Given the description of an element on the screen output the (x, y) to click on. 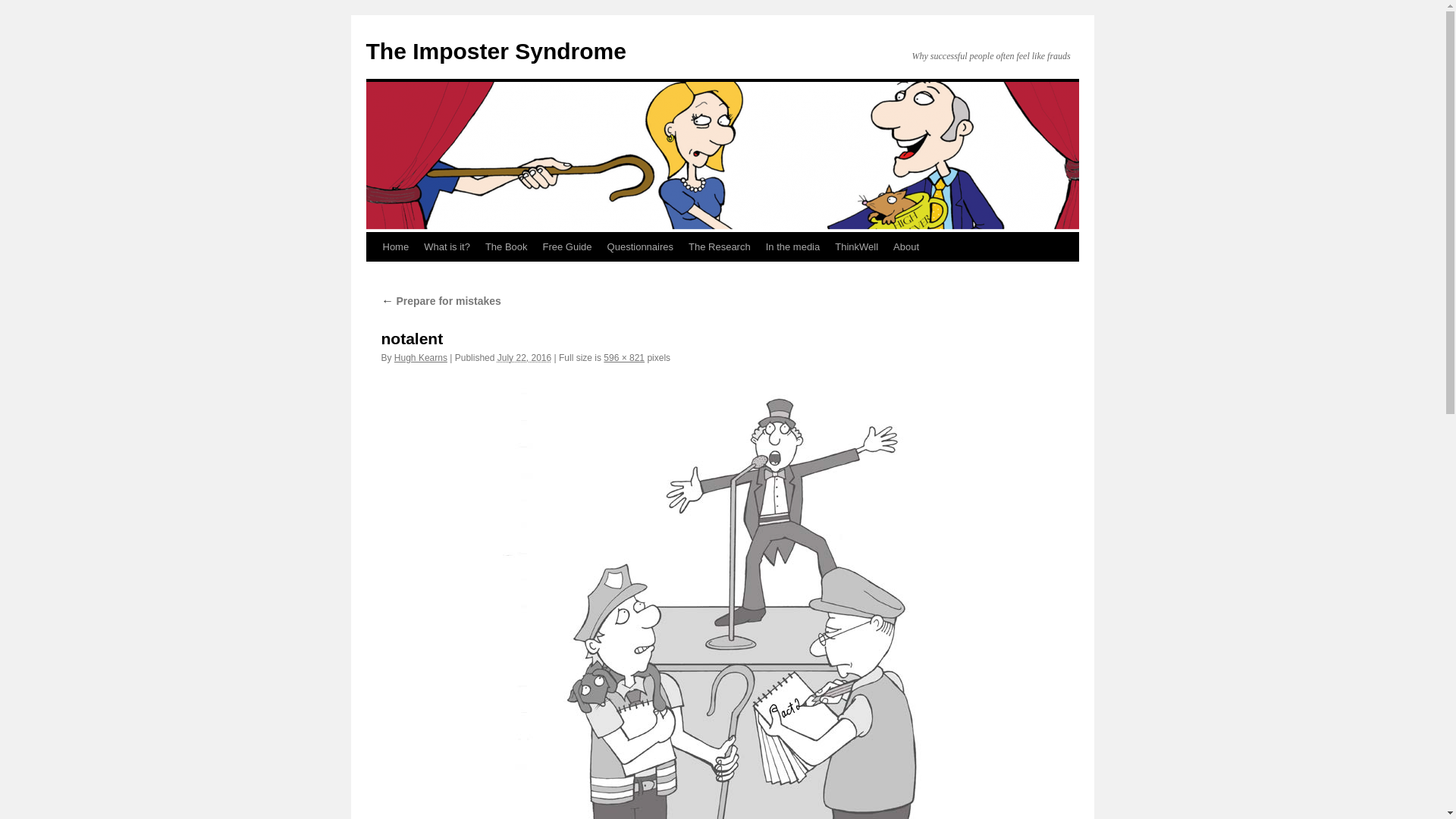
About Element type: text (905, 246)
What is it? Element type: text (446, 246)
In the media Element type: text (793, 246)
Skip to content Element type: text (372, 275)
The Research Element type: text (719, 246)
The Imposter Syndrome Element type: text (495, 50)
Home Element type: text (395, 246)
The Book Element type: text (506, 246)
Hugh Kearns Element type: text (420, 357)
Questionnaires Element type: text (639, 246)
Free Guide Element type: text (567, 246)
ThinkWell Element type: text (856, 246)
